Given the description of an element on the screen output the (x, y) to click on. 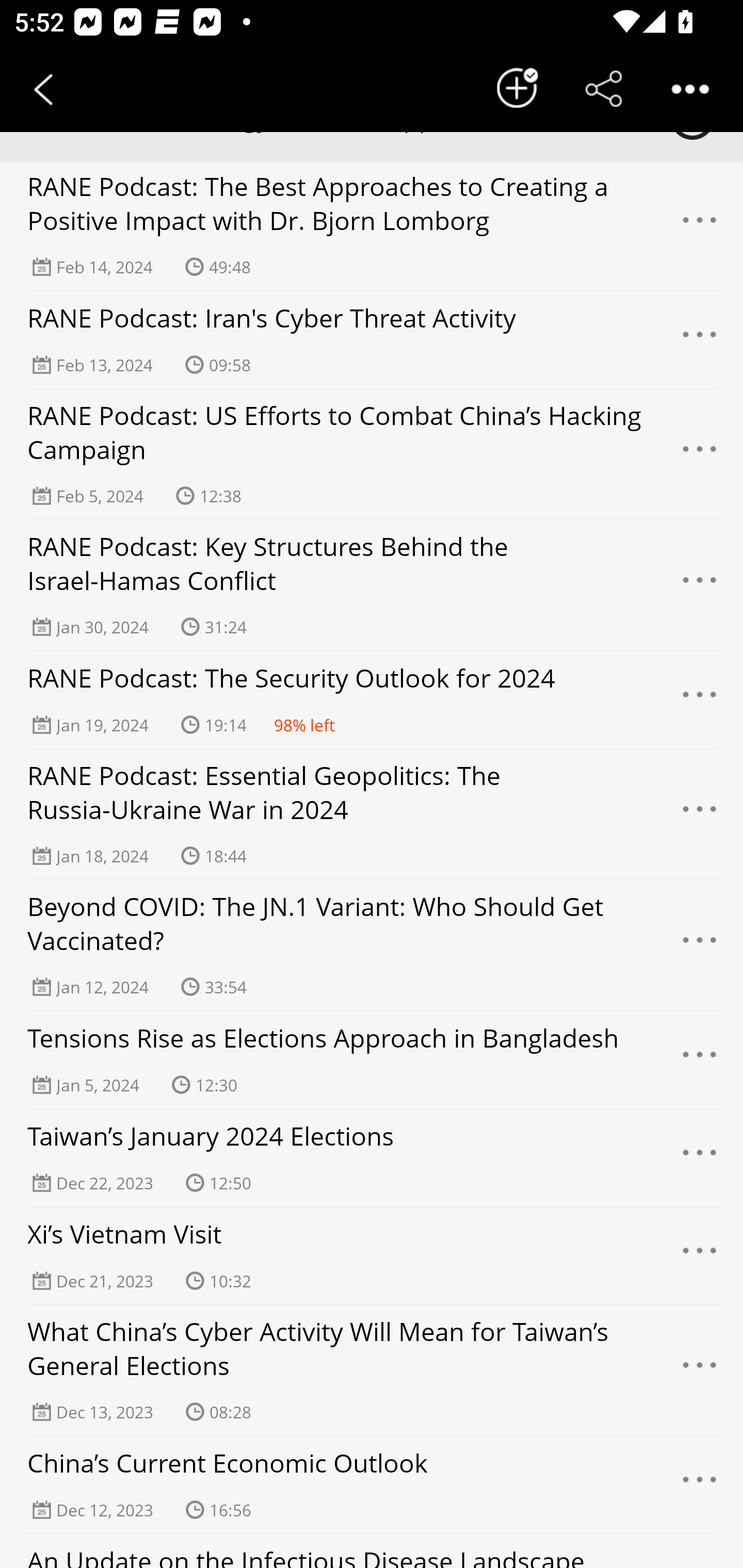
Back (43, 88)
Menu (699, 224)
Menu (699, 339)
Menu (699, 453)
Menu (699, 585)
Menu (699, 699)
Menu (699, 814)
Menu (699, 945)
Menu (699, 1059)
Menu (699, 1157)
Xi’s Vietnam Visit Dec 21, 2023 10:32 Menu (371, 1255)
Menu (699, 1255)
Menu (699, 1370)
Menu (699, 1484)
